Given the description of an element on the screen output the (x, y) to click on. 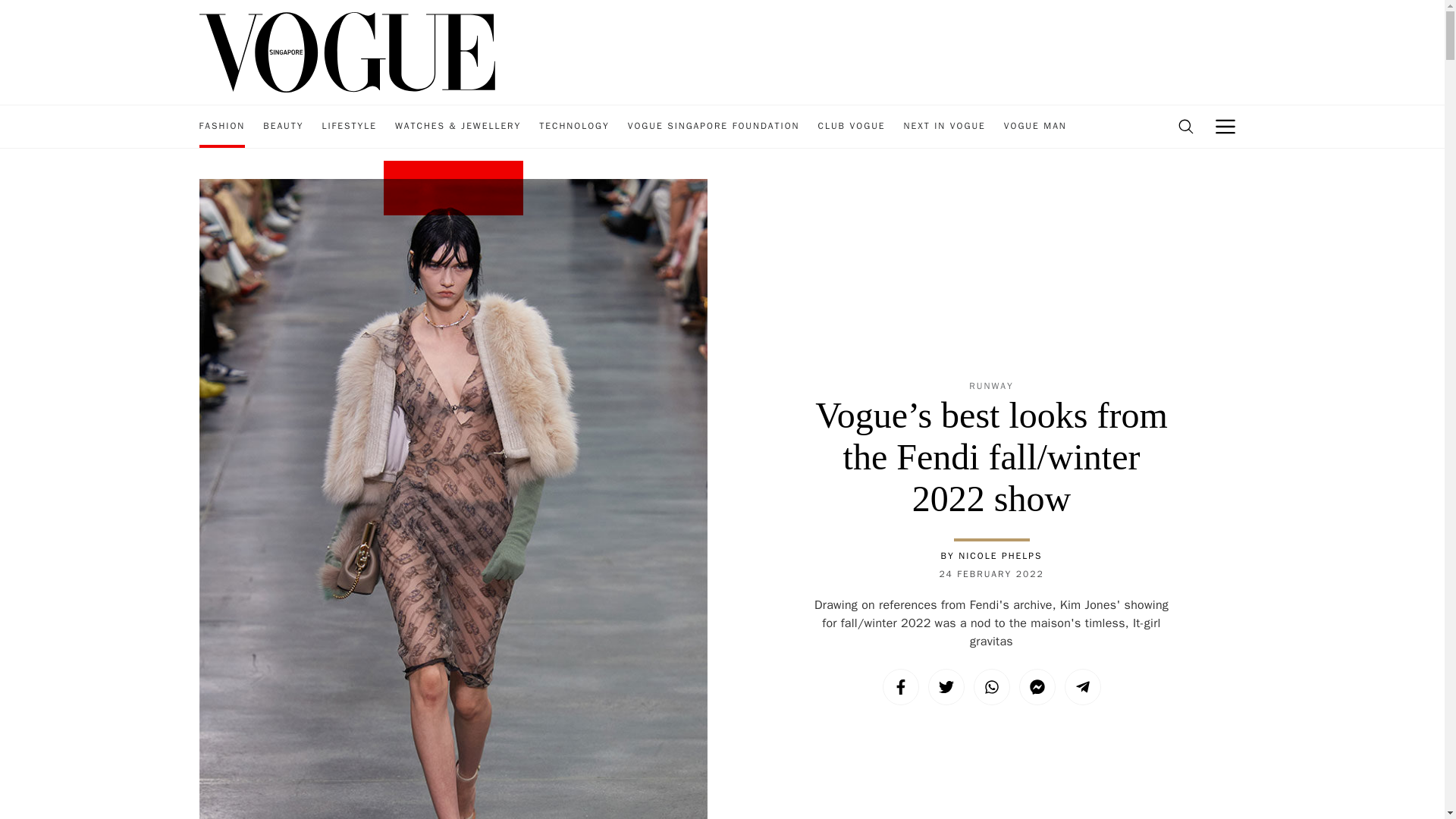
Telegram (1082, 687)
LIFESTYLE (348, 126)
Open Search (1185, 126)
Twitter (945, 687)
Facebook (900, 687)
WhatsApp (992, 687)
NICOLE PHELPS (1000, 555)
VOGUE MAN (1035, 126)
BEAUTY (282, 126)
Vogue Singapore (346, 51)
